Given the description of an element on the screen output the (x, y) to click on. 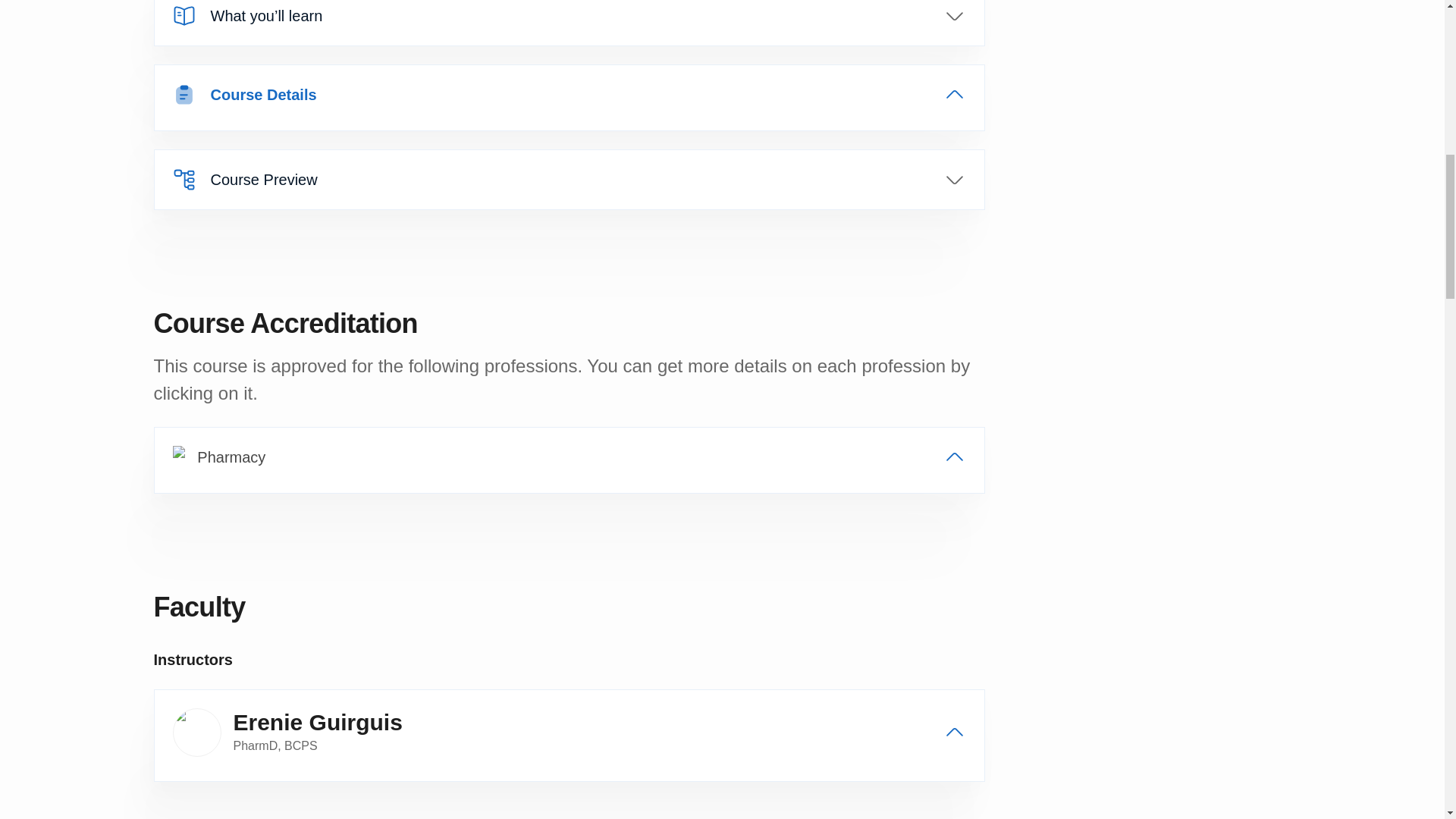
Course Preview (569, 179)
Pharmacy (569, 456)
Course Details (569, 94)
